Given the description of an element on the screen output the (x, y) to click on. 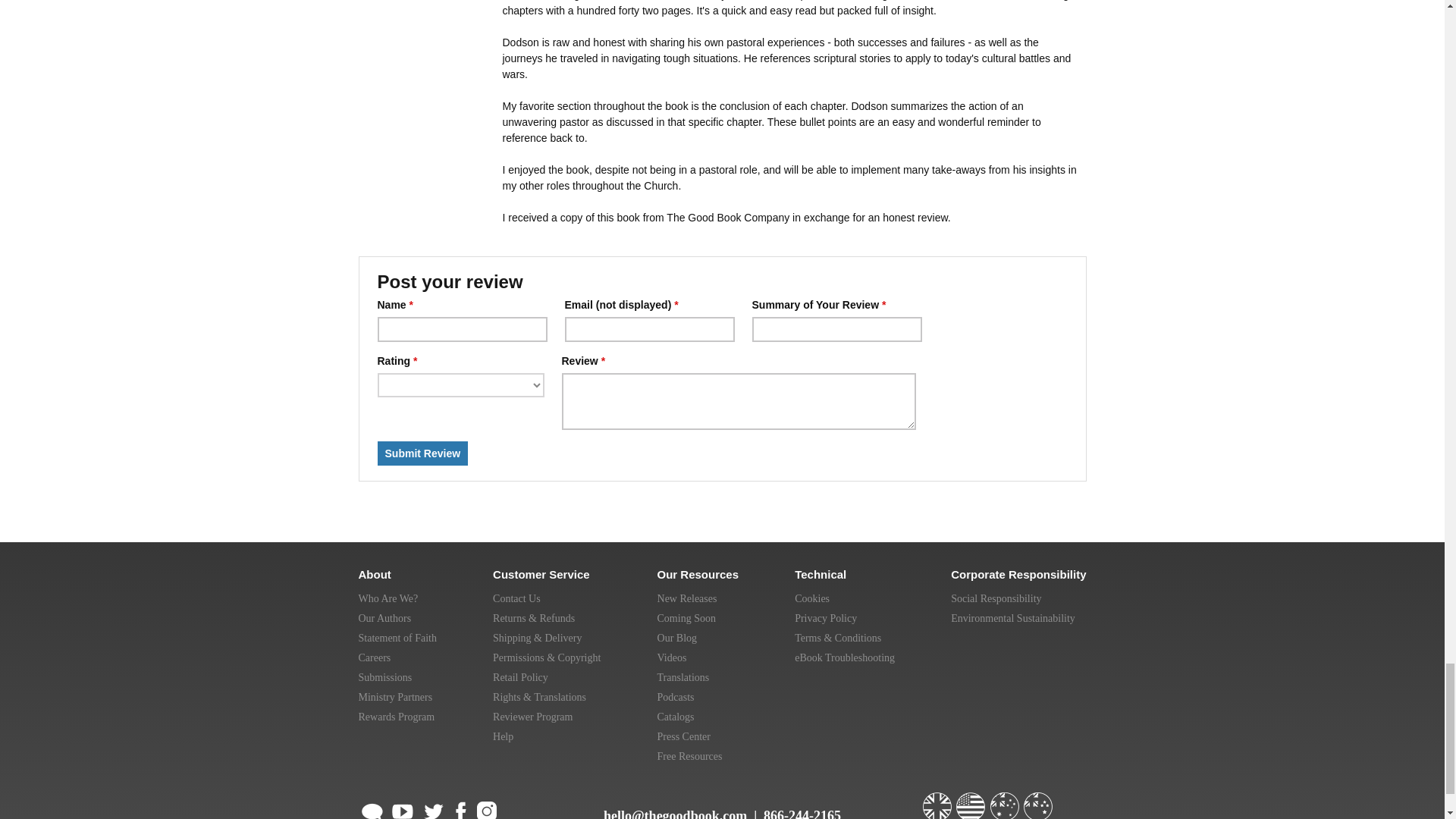
Submit Review (422, 453)
Go to New Zealand Website (1039, 799)
Go to US Website (972, 799)
Subscribe to feed (371, 808)
Go to South Africa Website (1071, 799)
Go to UK Website (937, 799)
Go to Australia Website (1006, 799)
